Given the description of an element on the screen output the (x, y) to click on. 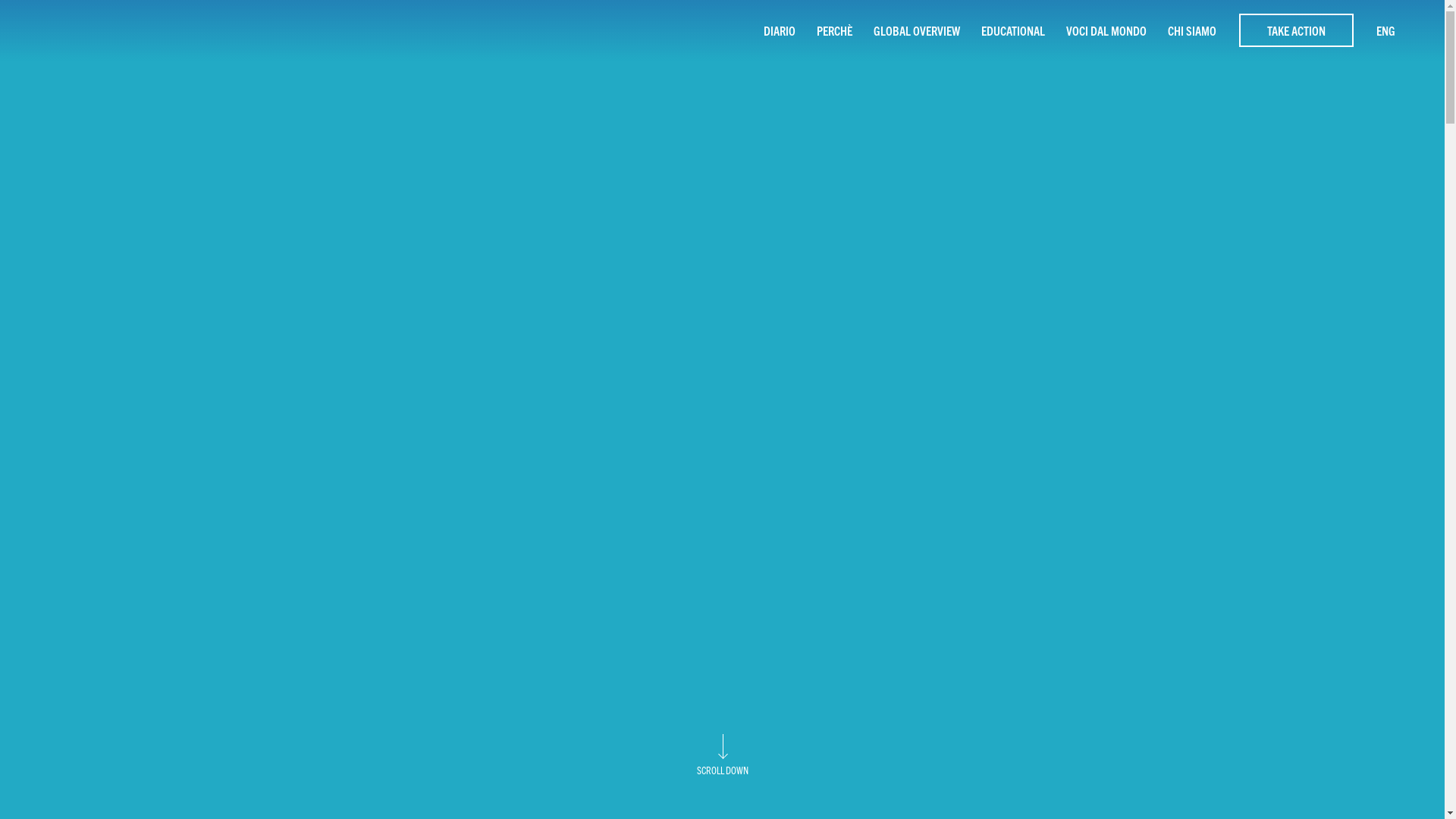
EDUCATIONAL Element type: text (1012, 29)
TAKE ACTION Element type: text (1296, 30)
DIARIO Element type: text (779, 29)
VOCI DAL MONDO Element type: text (1106, 29)
CHI SIAMO Element type: text (1191, 29)
GLOBAL OVERVIEW Element type: text (916, 29)
ENG Element type: text (1385, 29)
homepage - 10 Rivers 1 Ocean Element type: hover (87, 30)
